Given the description of an element on the screen output the (x, y) to click on. 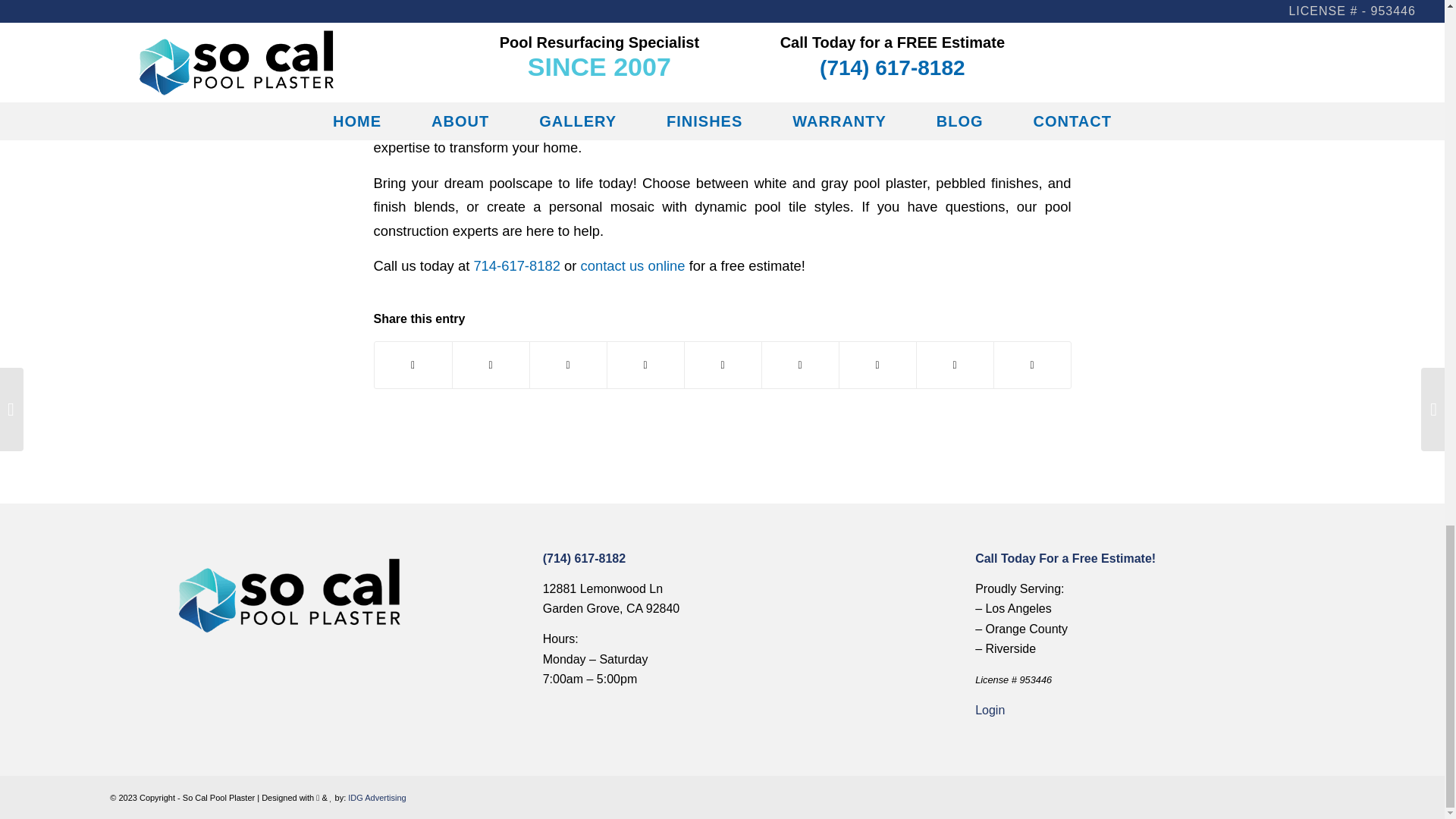
714-617-8182 (516, 265)
Login (989, 709)
contact us online (631, 265)
pool tile repair (987, 100)
pool coping (721, 111)
IDG Advertising (376, 797)
